Given the description of an element on the screen output the (x, y) to click on. 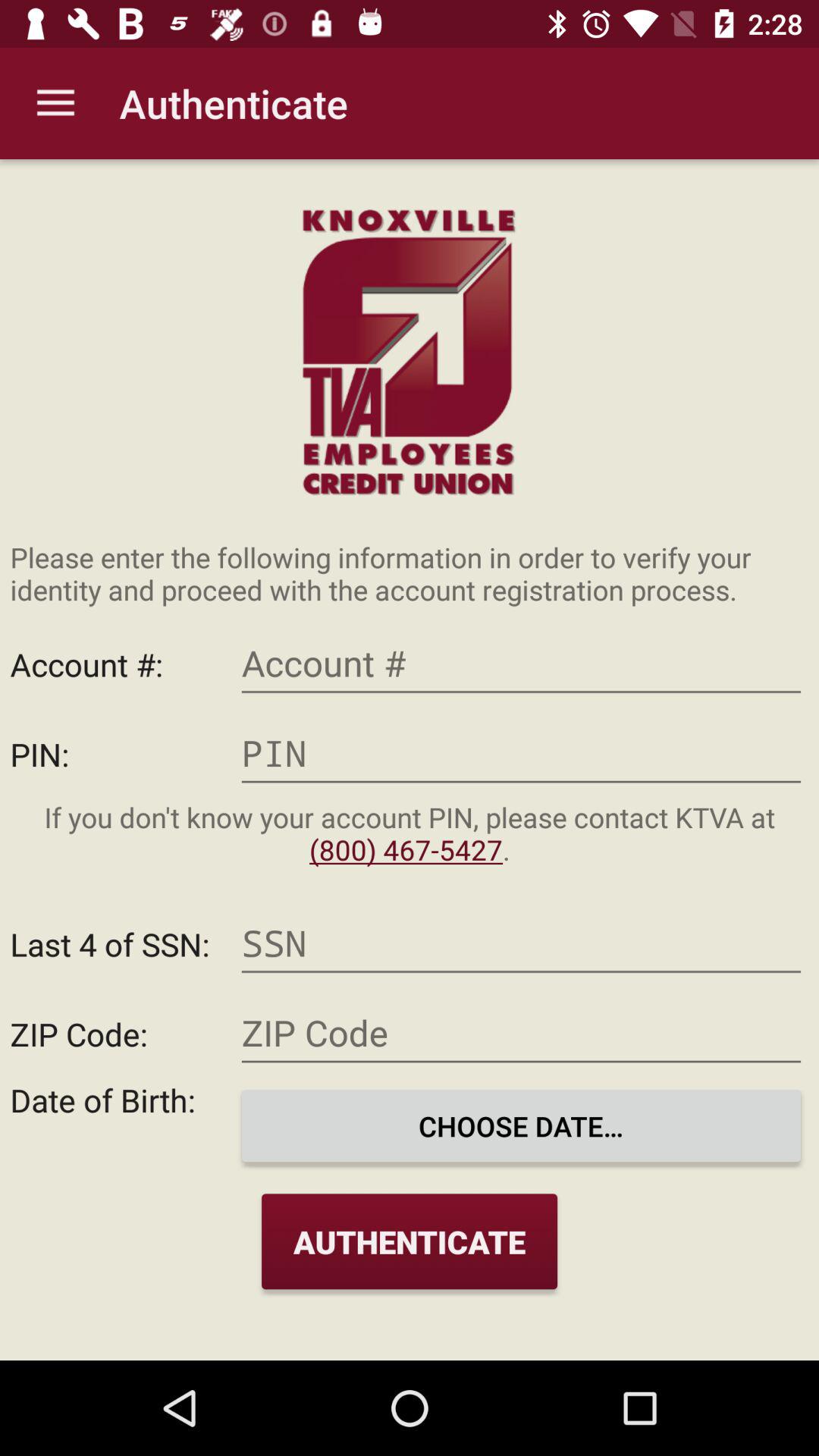
enter last 4 of ssn (520, 943)
